Given the description of an element on the screen output the (x, y) to click on. 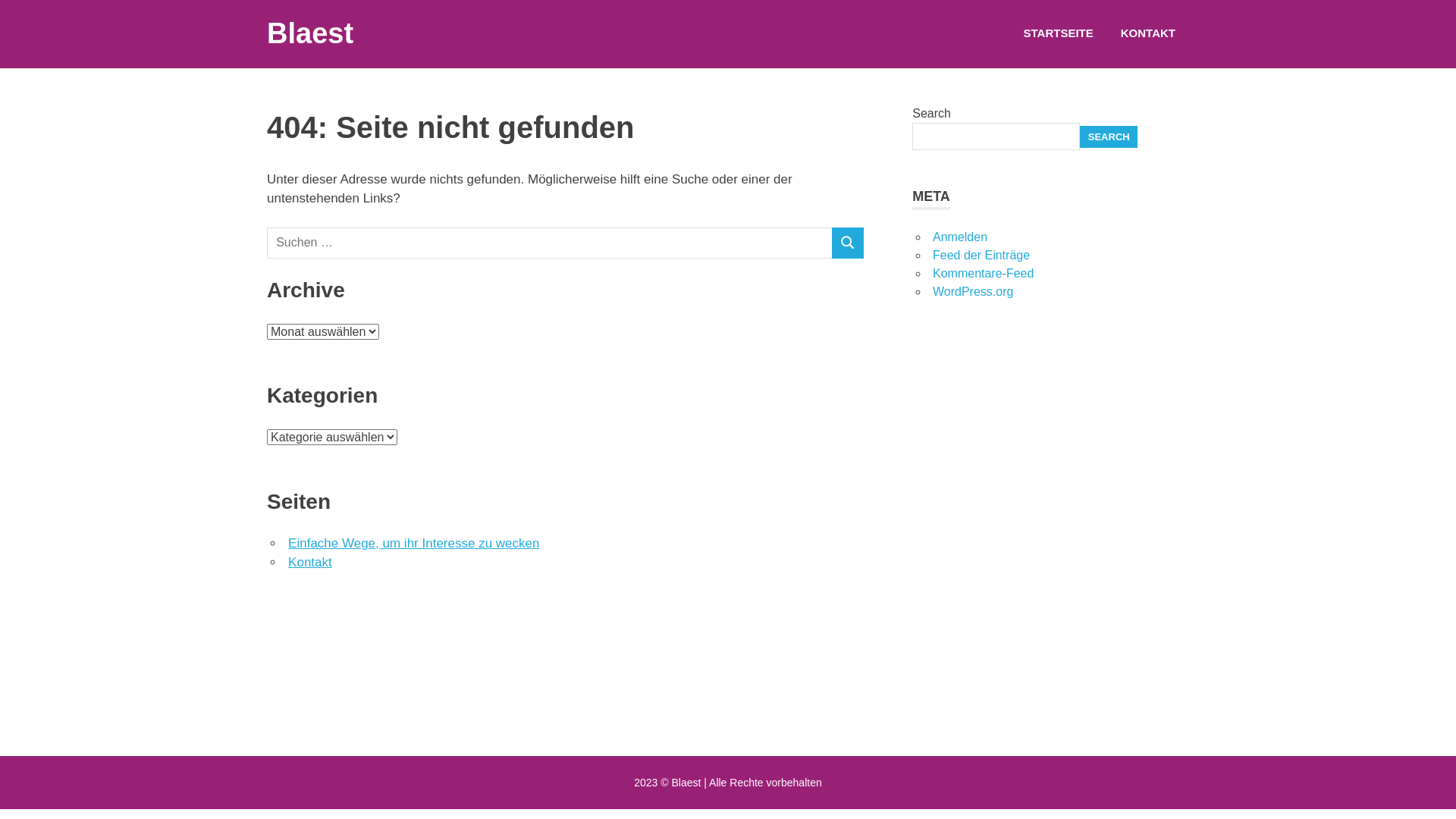
SEARCH Element type: text (1108, 136)
KONTAKT Element type: text (1148, 33)
Kommentare-Feed Element type: text (982, 272)
Einfache Wege, um ihr Interesse zu wecken Element type: text (413, 543)
Zum Inhalt springen Element type: text (0, 0)
Anmelden Element type: text (959, 236)
Suchen nach: Element type: hover (549, 242)
Blaest Element type: text (309, 33)
WordPress.org Element type: text (972, 291)
STARTSEITE Element type: text (1058, 33)
Kontakt Element type: text (310, 562)
SUCHEN Element type: text (847, 242)
